Given the description of an element on the screen output the (x, y) to click on. 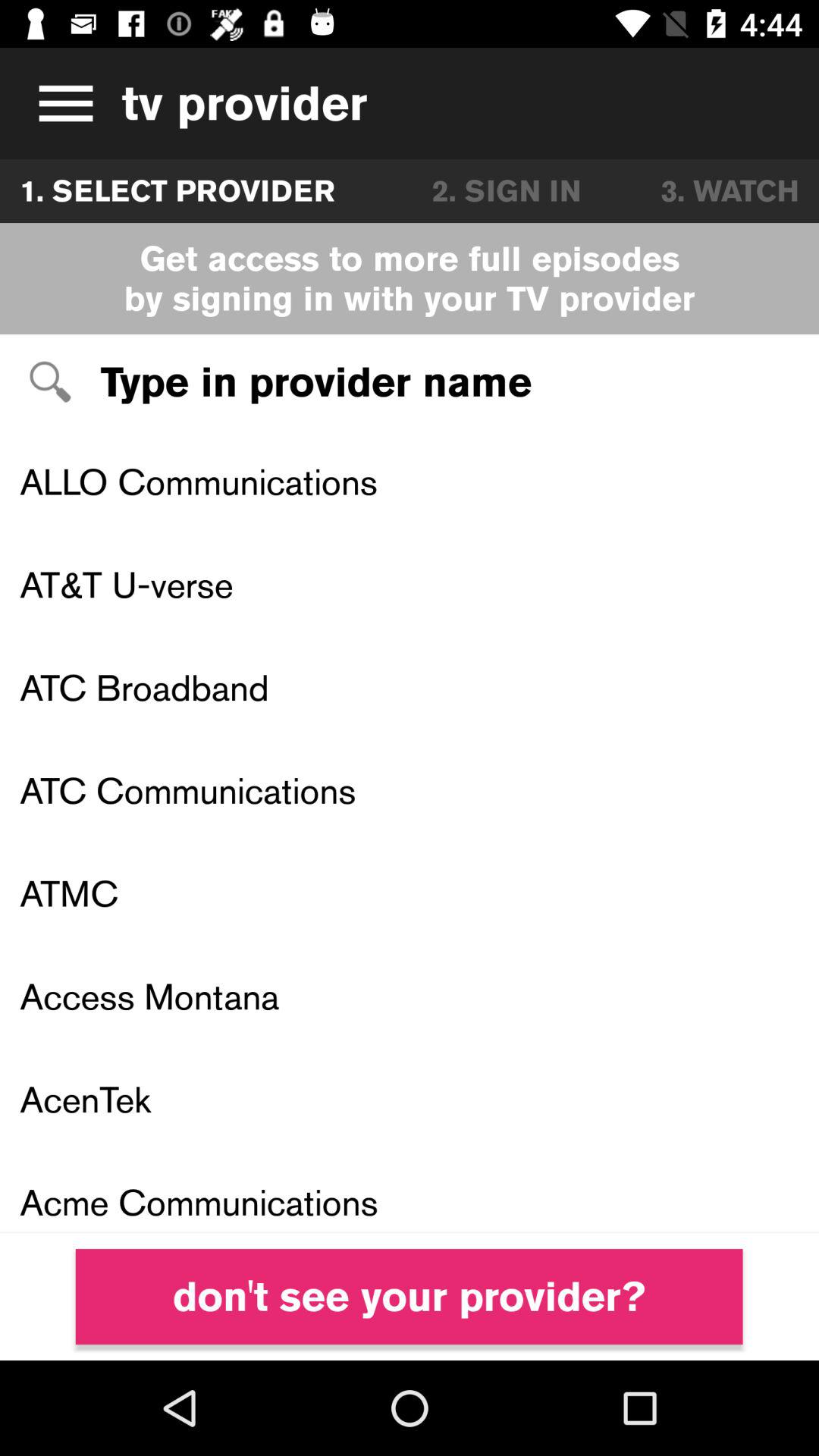
open item above atc communications (409, 687)
